Given the description of an element on the screen output the (x, y) to click on. 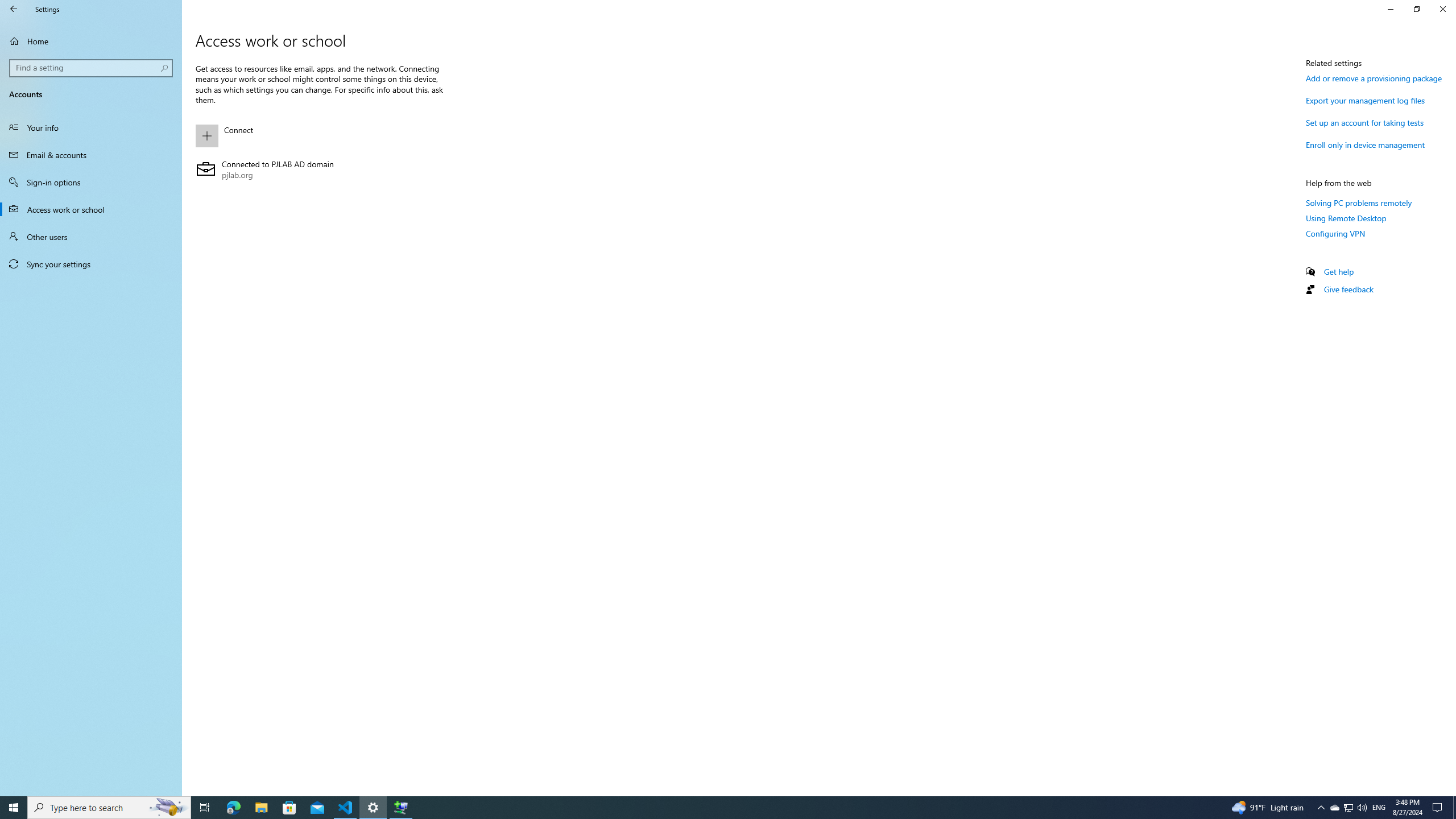
Other users (91, 236)
Configuring VPN (1335, 233)
Minimize Settings (1390, 9)
Connect (319, 135)
Your info (91, 126)
Back (13, 9)
Connected to PJLAB AD domain pjlab.org (319, 169)
Settings - 1 running window (373, 807)
